Given the description of an element on the screen output the (x, y) to click on. 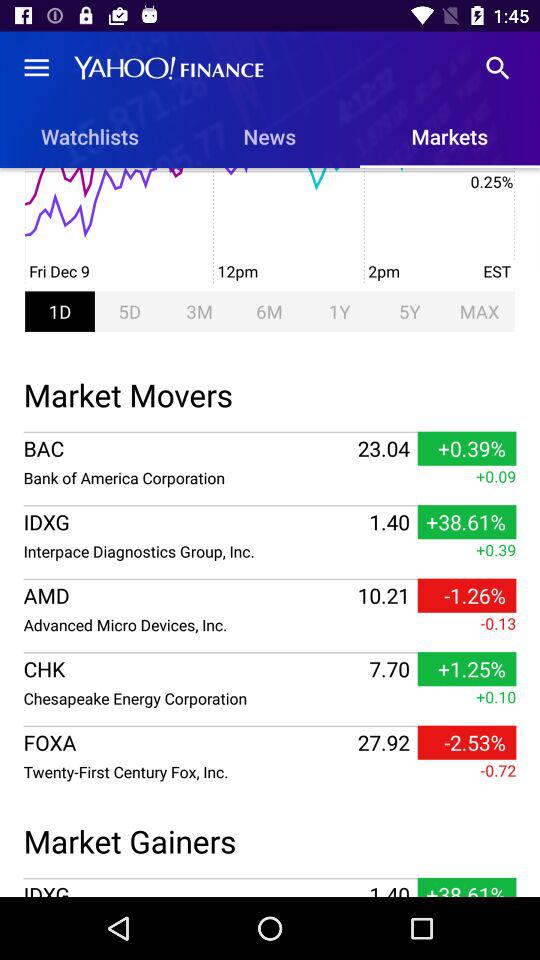
tap icon next to 1d item (129, 311)
